Given the description of an element on the screen output the (x, y) to click on. 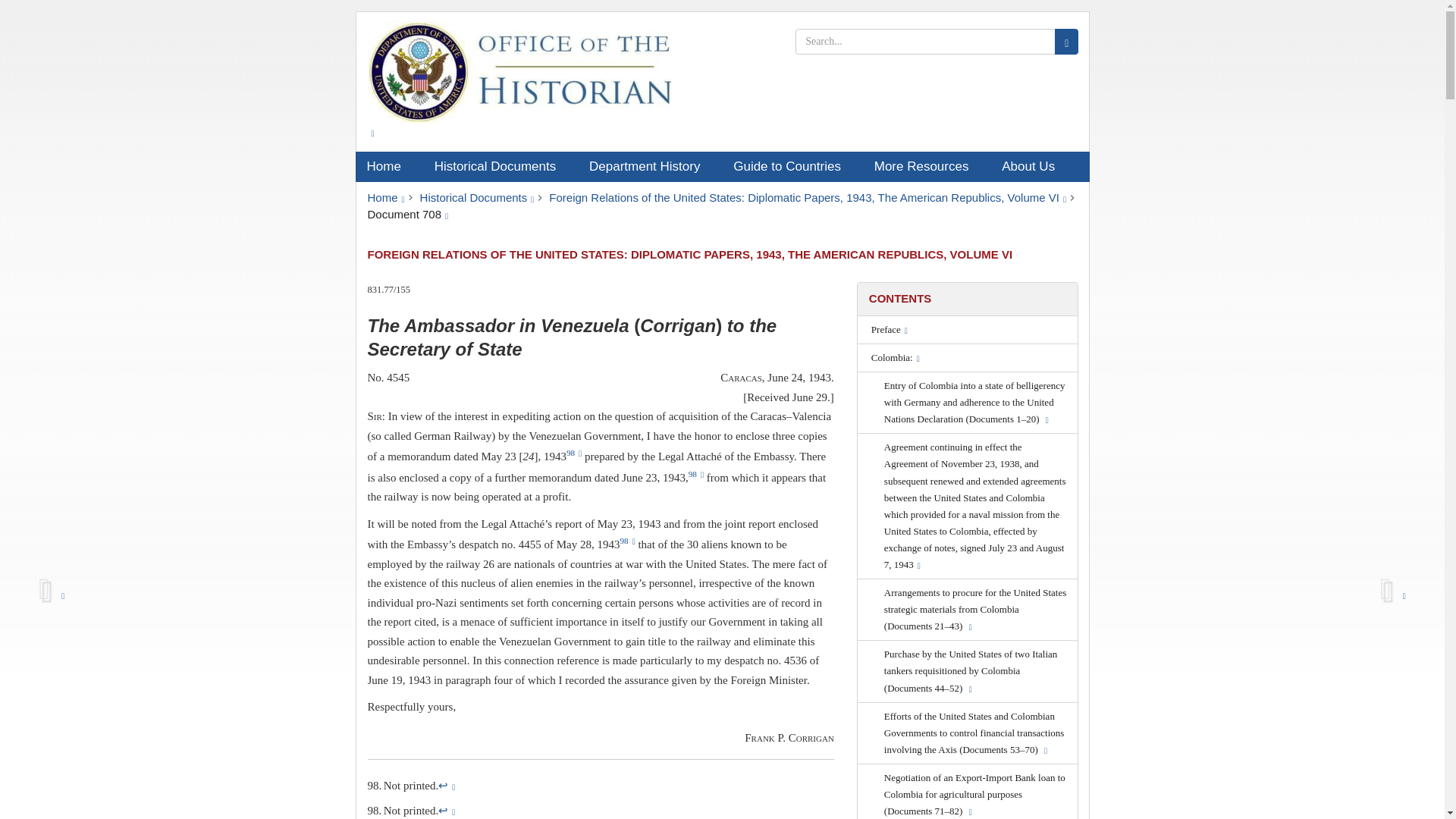
Department History (650, 166)
Home (388, 166)
Historical Documents (477, 196)
More Resources (926, 166)
Historical Documents (500, 166)
Home (385, 196)
Guide to Countries (792, 166)
Document 708 (407, 214)
About Us (1033, 166)
